Given the description of an element on the screen output the (x, y) to click on. 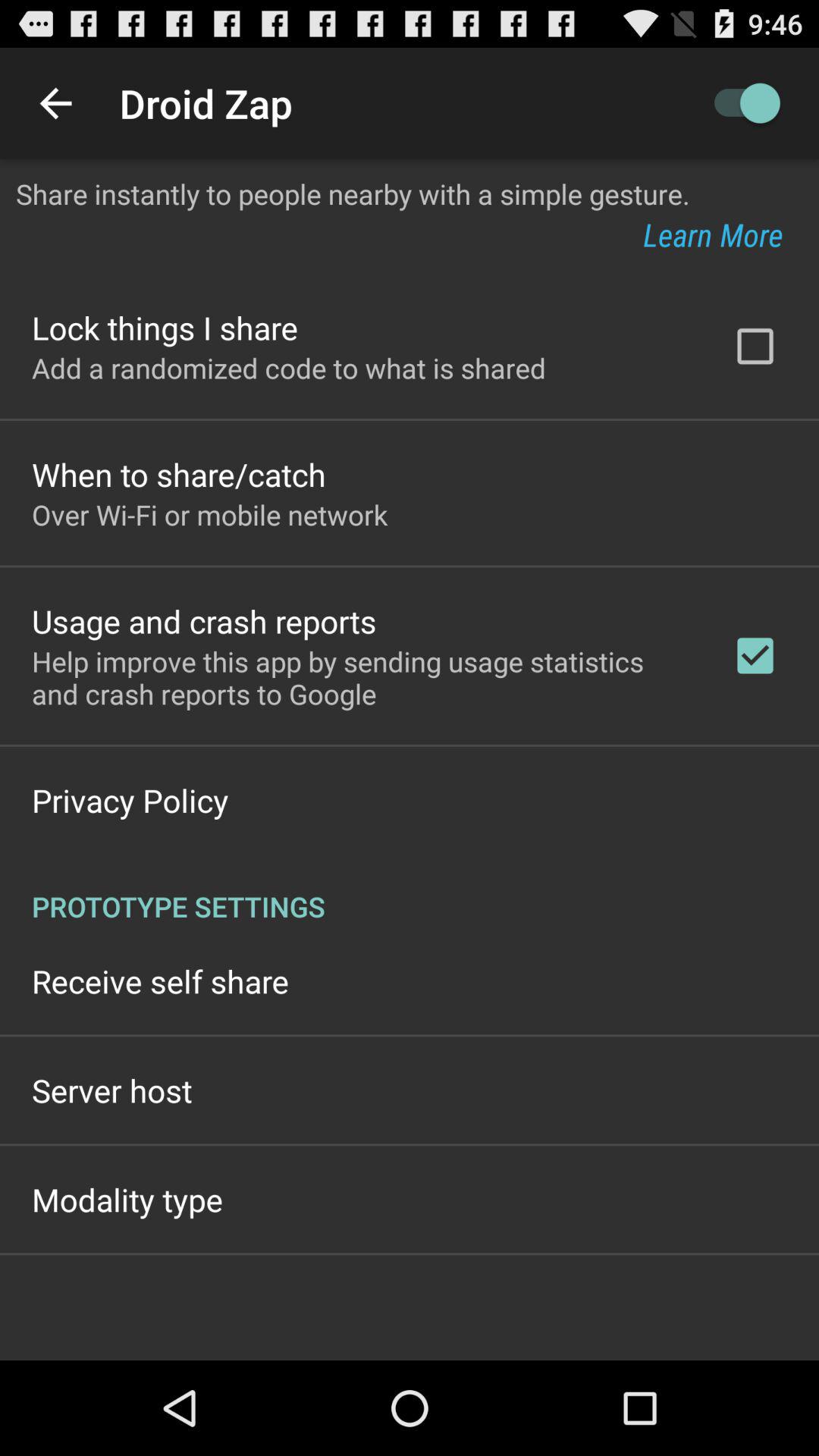
click item next to the droid zap (739, 103)
